Given the description of an element on the screen output the (x, y) to click on. 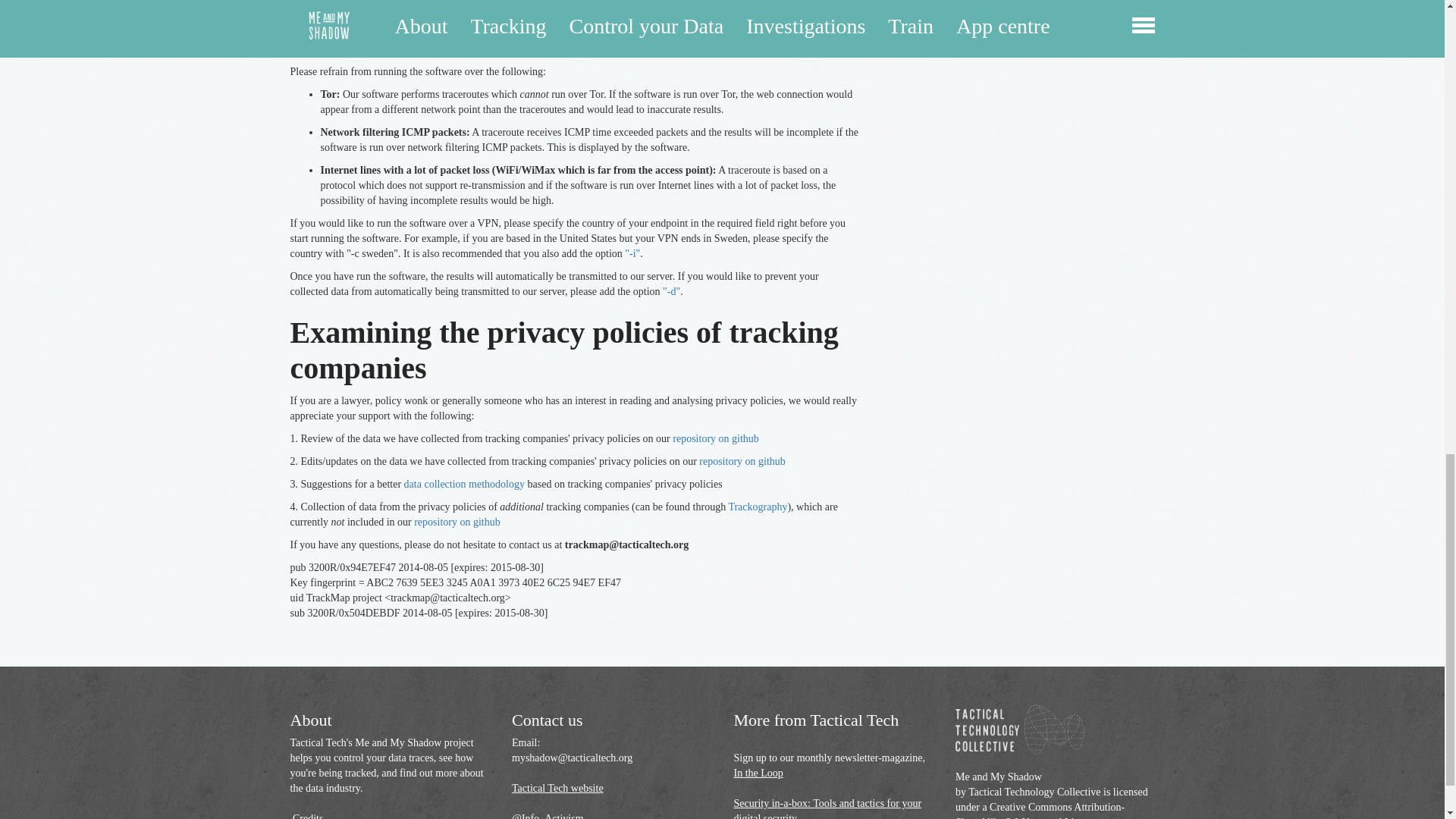
repository on github (456, 521)
repository on github (742, 460)
Trackography (757, 506)
repository on github (715, 438)
"-d" (671, 291)
verified (428, 10)
"-i" (632, 253)
unverified (478, 10)
data collection methodology (464, 483)
